Given the description of an element on the screen output the (x, y) to click on. 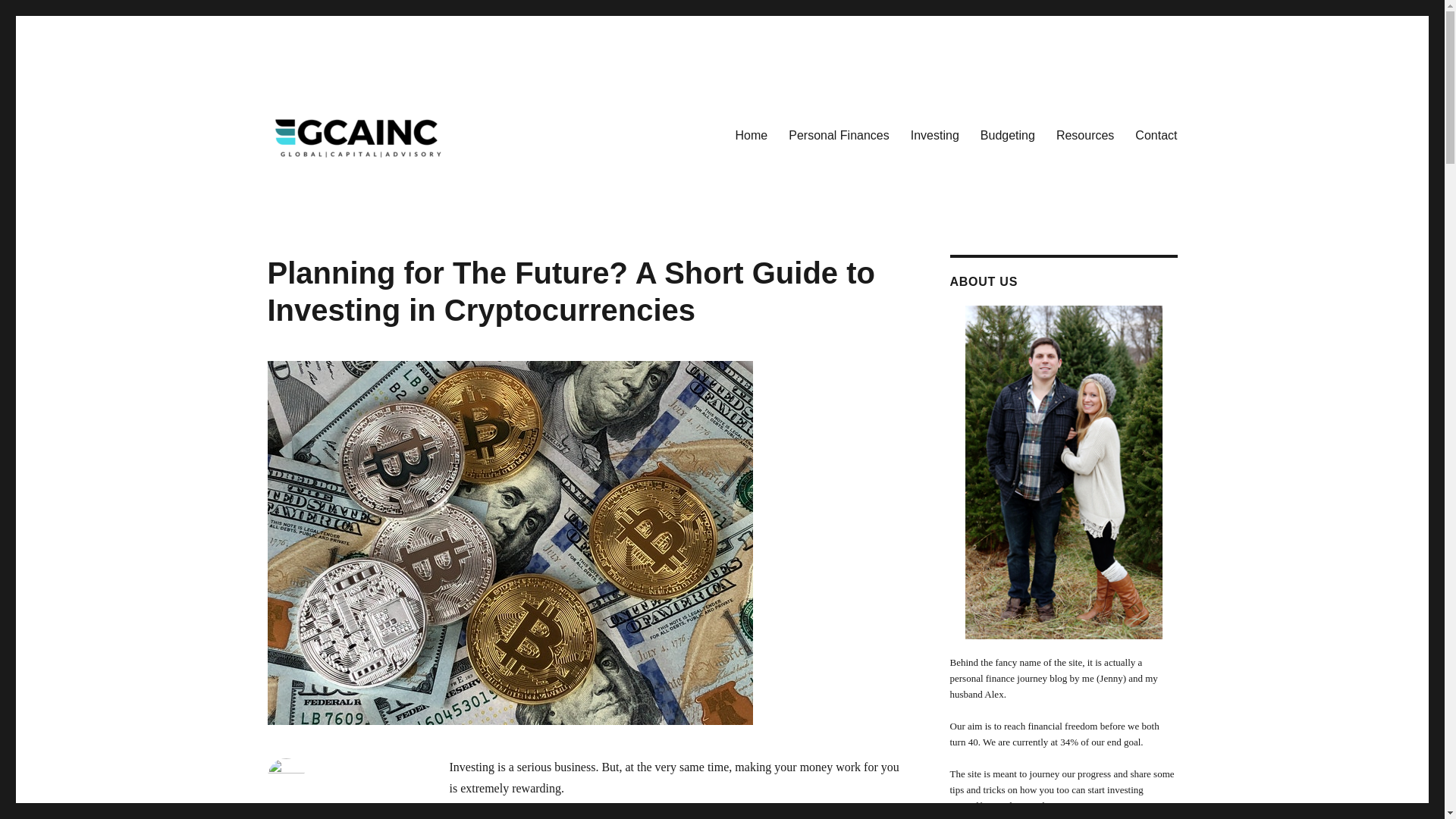
Budgeting (1007, 135)
Investing (934, 135)
Resources (1084, 135)
Home (751, 135)
Alex (275, 808)
Personal Finances (838, 135)
Contact (1156, 135)
